Given the description of an element on the screen output the (x, y) to click on. 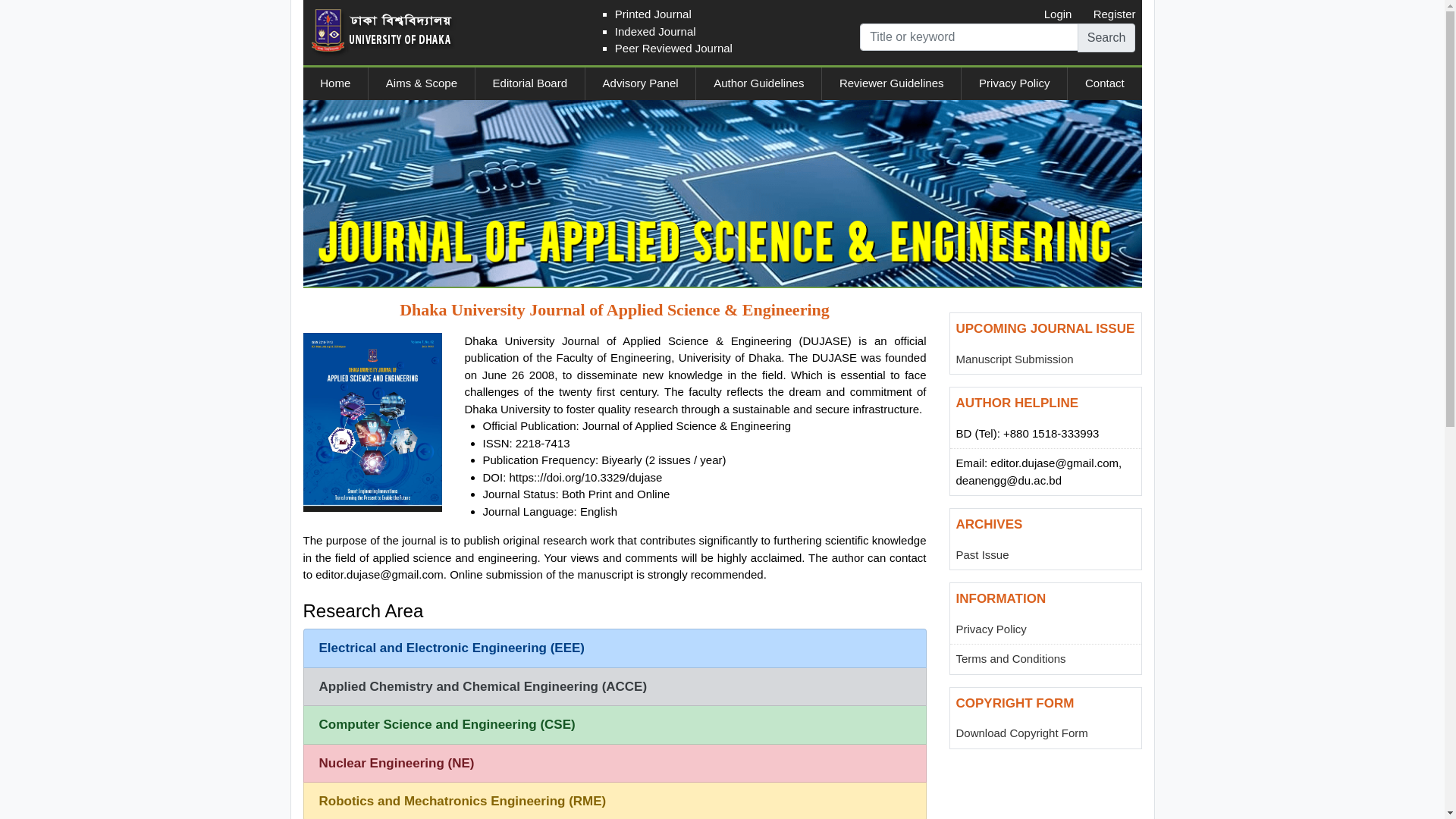
https:://doi.org/10.3329/dujase Element type: text (585, 476)
Editorial Board Element type: text (529, 83)
Download Copyright Form Element type: text (1021, 732)
Login Element type: text (1058, 13)
JASE Element type: hover (372, 421)
Advisory Panel Element type: text (640, 83)
Privacy Policy Element type: text (990, 628)
Contact Element type: text (1104, 83)
Past Issue Element type: text (981, 554)
Search Element type: text (1106, 36)
Privacy Policy Element type: text (1013, 83)
Terms and Conditions Element type: text (1010, 658)
Aims & Scope Element type: text (421, 83)
Manuscript Submission Element type: text (1014, 358)
Register Element type: text (1114, 13)
Author Guidelines Element type: text (758, 83)
Home Element type: text (335, 83)
Reviewer Guidelines Element type: text (891, 83)
